Given the description of an element on the screen output the (x, y) to click on. 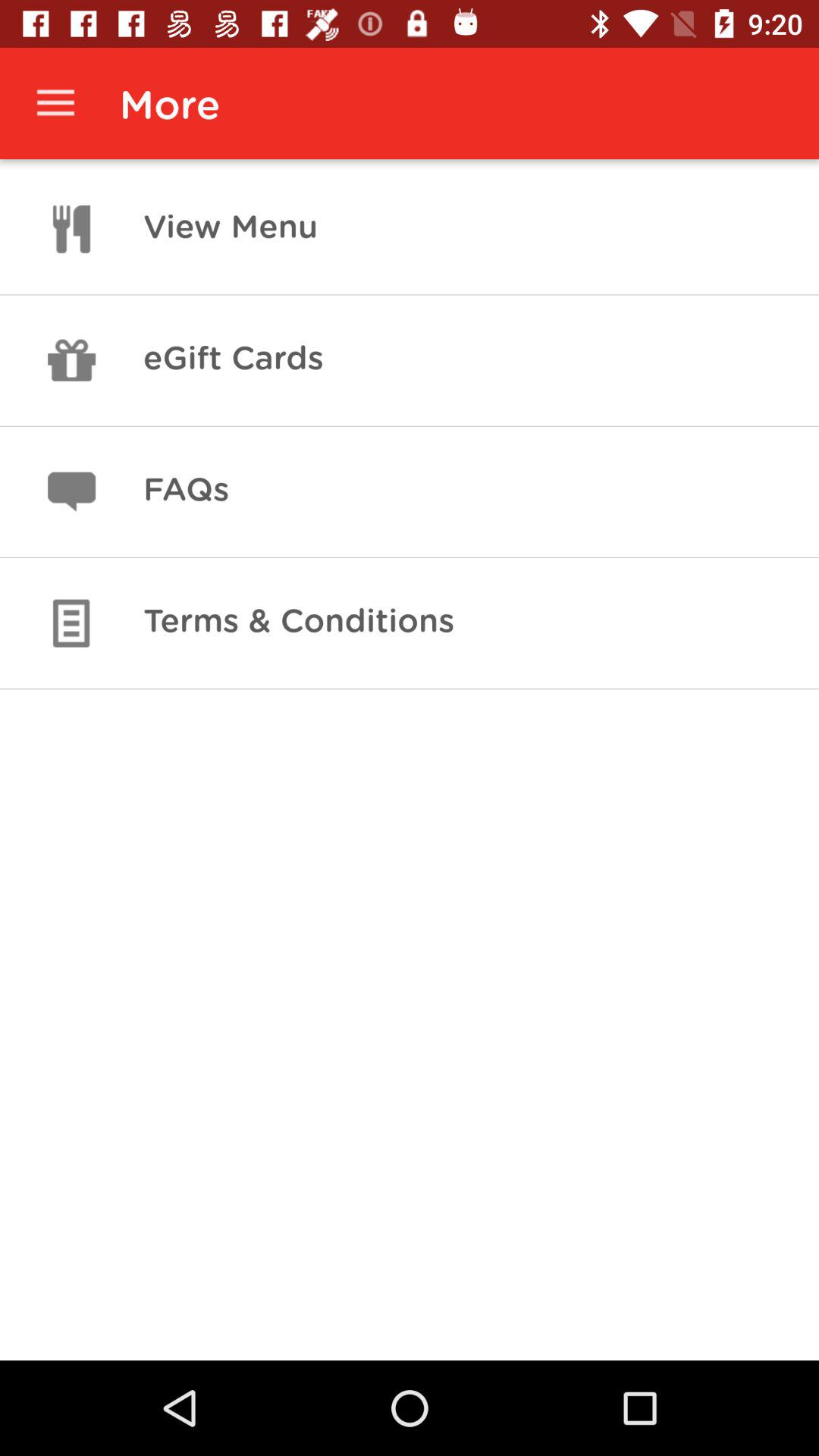
press item below faqs (298, 622)
